Given the description of an element on the screen output the (x, y) to click on. 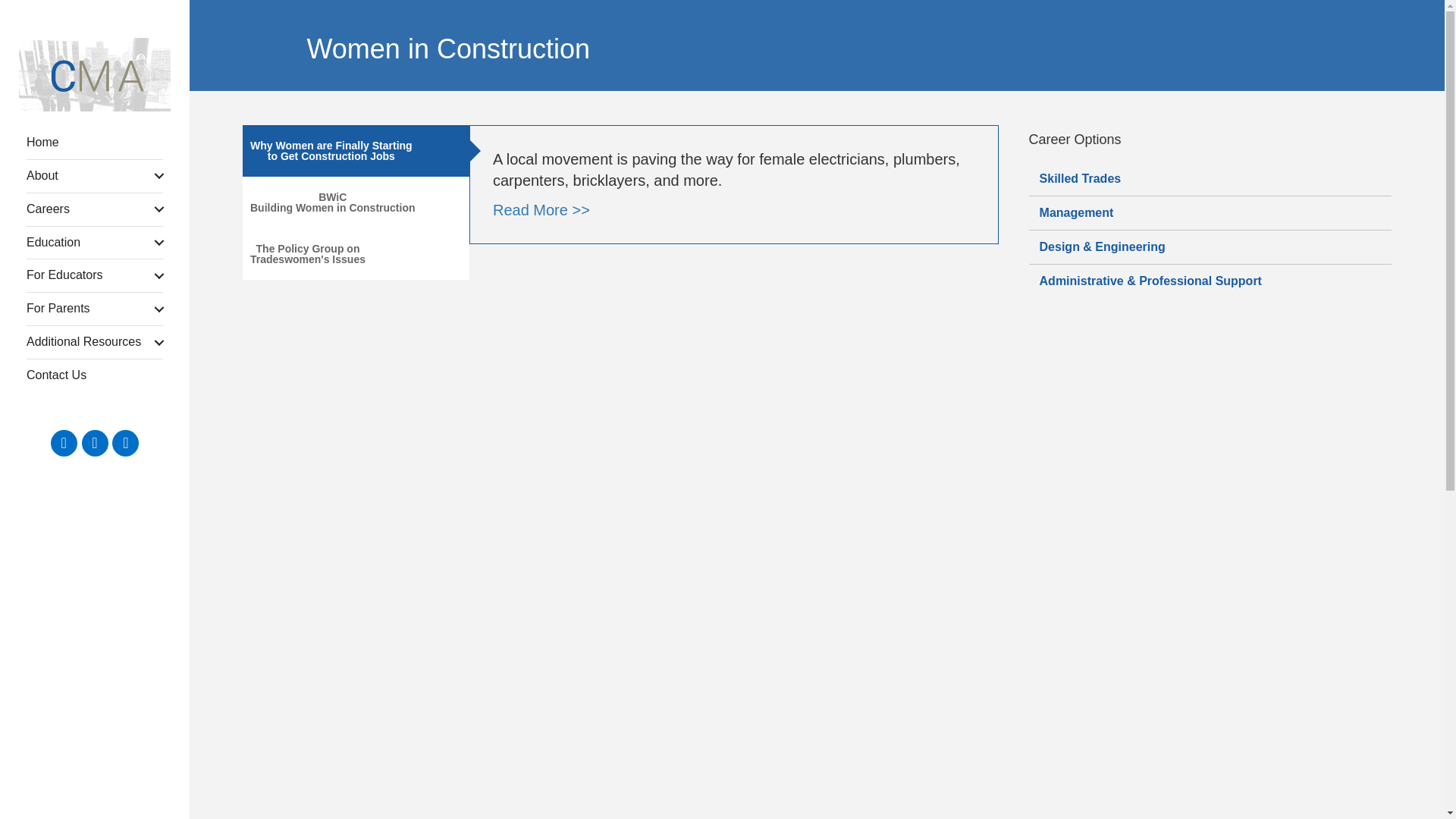
Education (94, 242)
For Parents (94, 308)
CMA V Logo (94, 74)
For Educators (94, 275)
Skilled Trades (1210, 178)
Additional Resources (94, 341)
Contact Us (94, 375)
About (94, 175)
Careers (94, 209)
Home (94, 142)
